Given the description of an element on the screen output the (x, y) to click on. 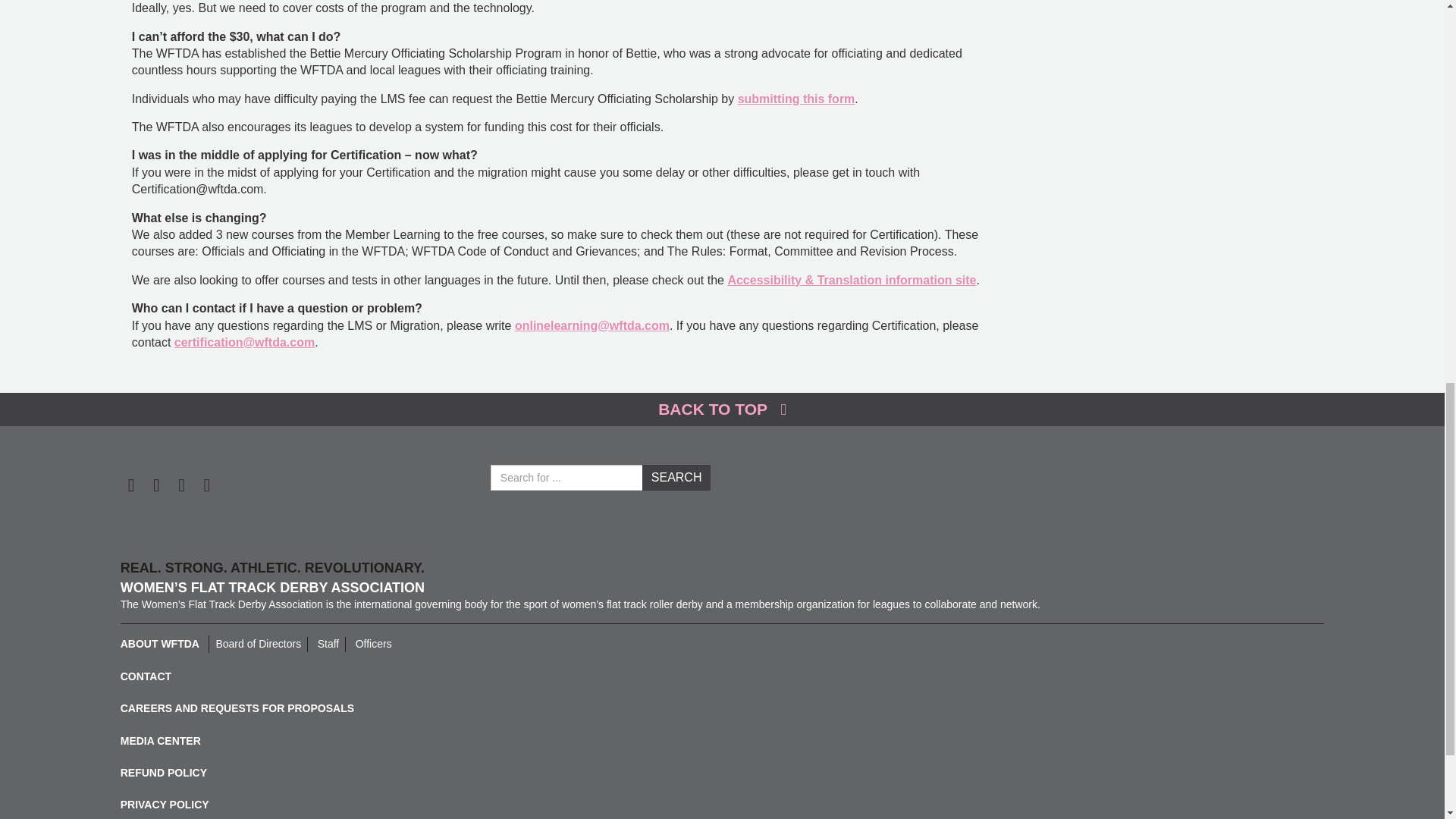
Search (676, 477)
